Given the description of an element on the screen output the (x, y) to click on. 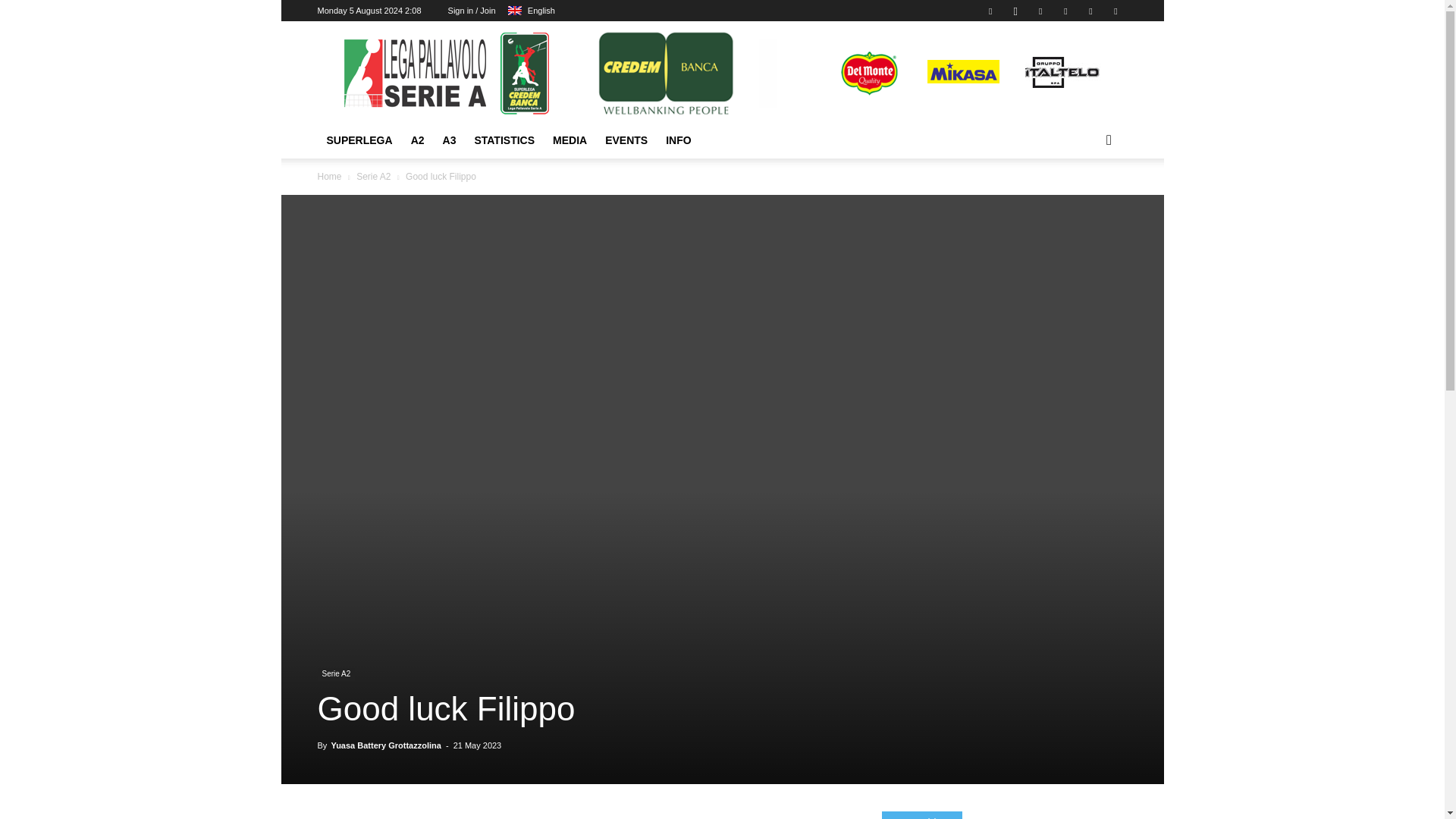
Spotify (1040, 10)
Telegram (1065, 10)
Whatsapp (1090, 10)
English (514, 10)
Instagram (1015, 10)
Facebook (989, 10)
English (531, 10)
